Given the description of an element on the screen output the (x, y) to click on. 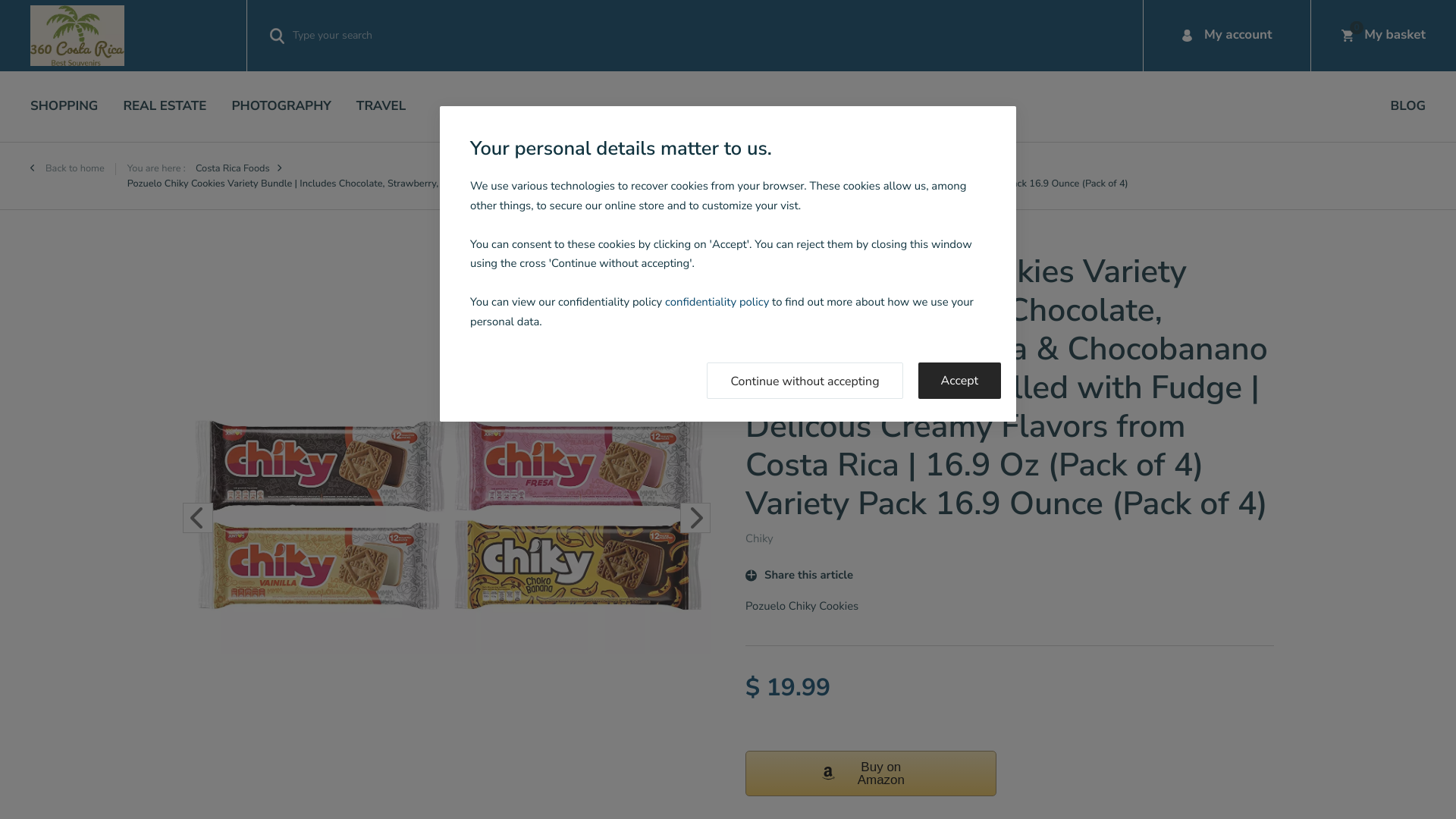
Continue without accepting Element type: text (804, 380)
confidentiality policy Element type: text (716, 302)
Buy on Amazon Element type: text (870, 773)
Accept Element type: text (959, 380)
Costa Rica Foods Element type: text (232, 168)
Back to home Element type: text (67, 168)
Chiky Element type: text (759, 538)
LOGO Element type: hover (77, 35)
BLOG Element type: text (1407, 106)
